Given the description of an element on the screen output the (x, y) to click on. 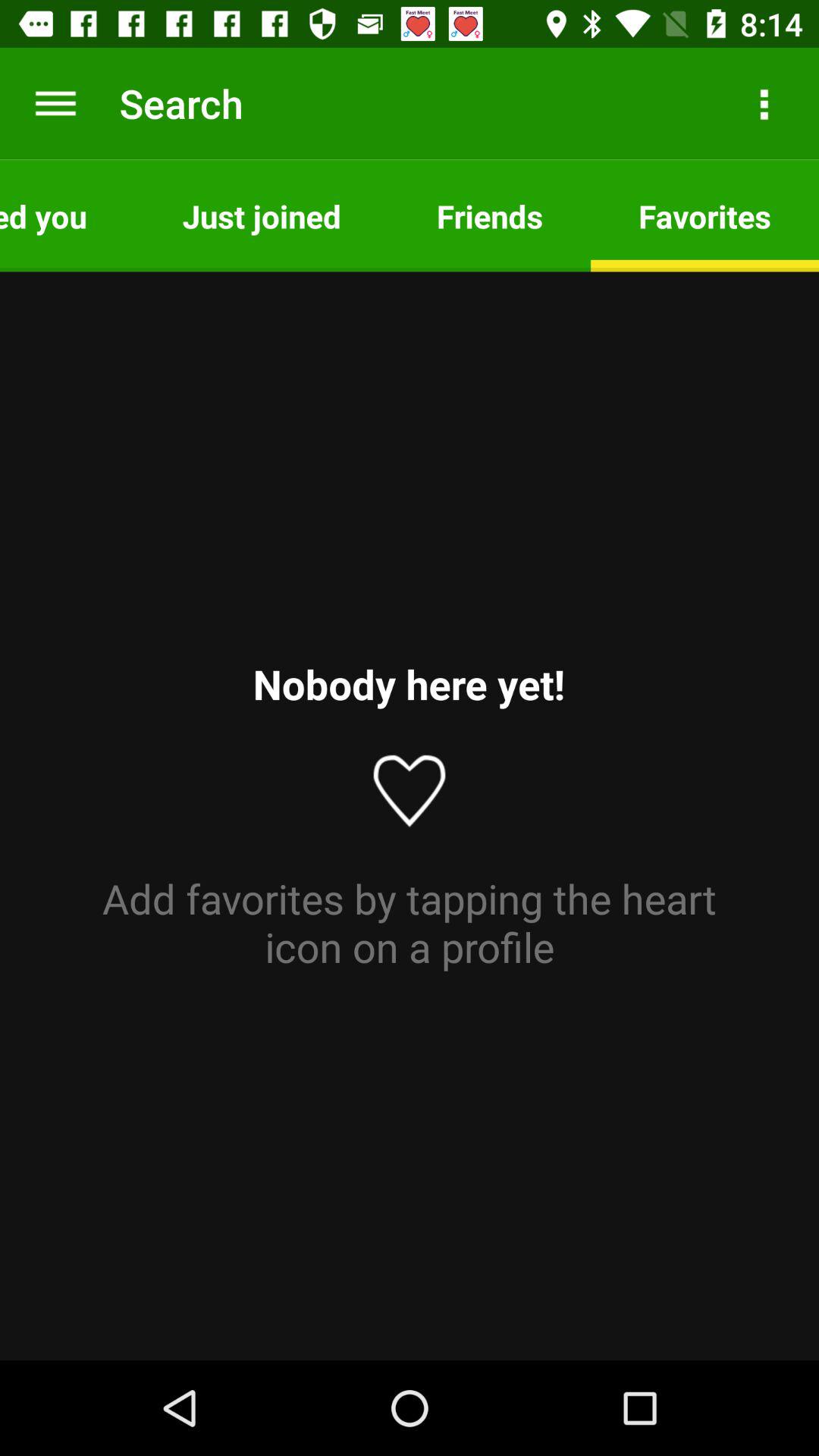
choose the app to the right of the just joined app (489, 215)
